Given the description of an element on the screen output the (x, y) to click on. 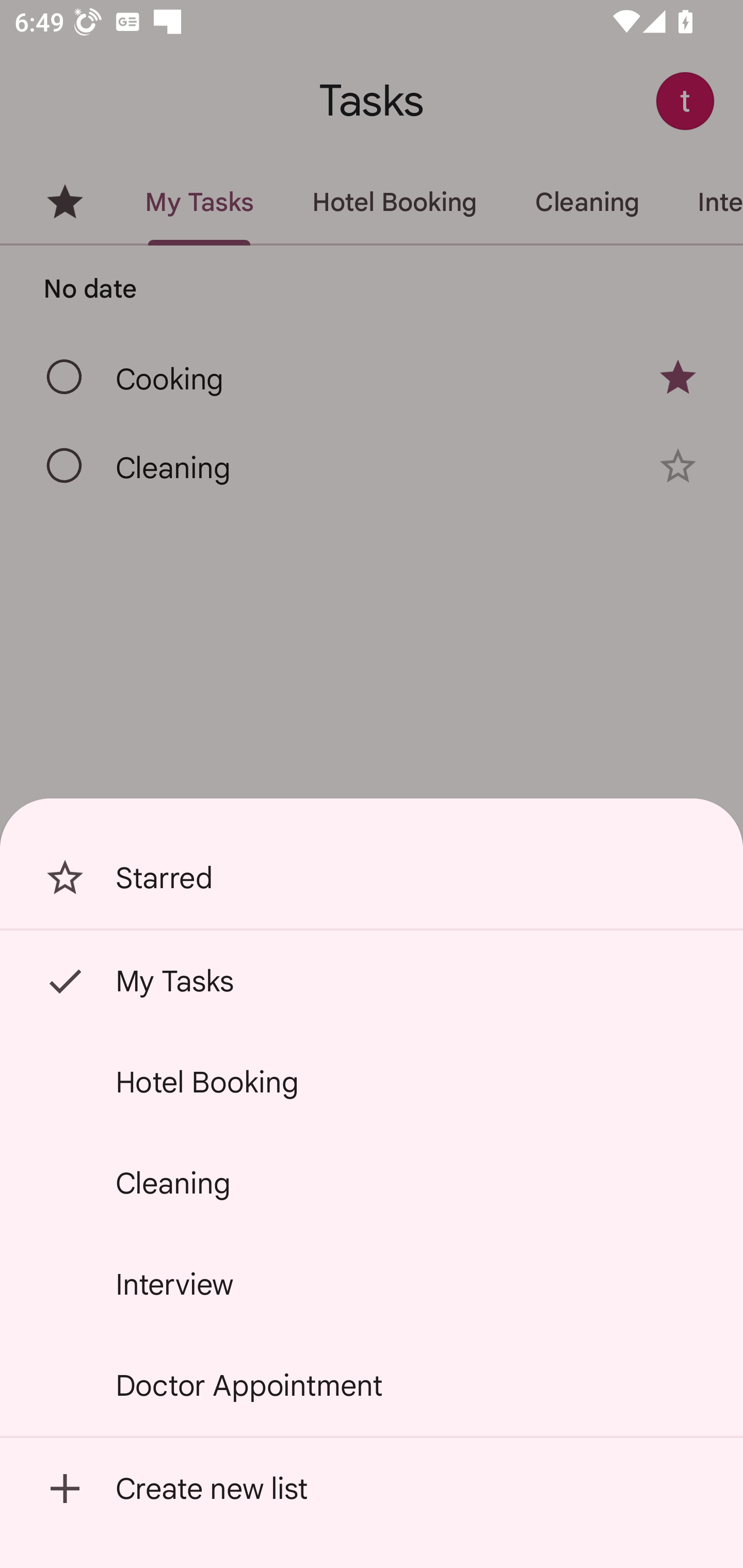
Starred (371, 877)
My Tasks (371, 980)
Hotel Booking (371, 1081)
Cleaning (371, 1183)
Interview (371, 1284)
Doctor Appointment (371, 1385)
Create new list (371, 1488)
